Given the description of an element on the screen output the (x, y) to click on. 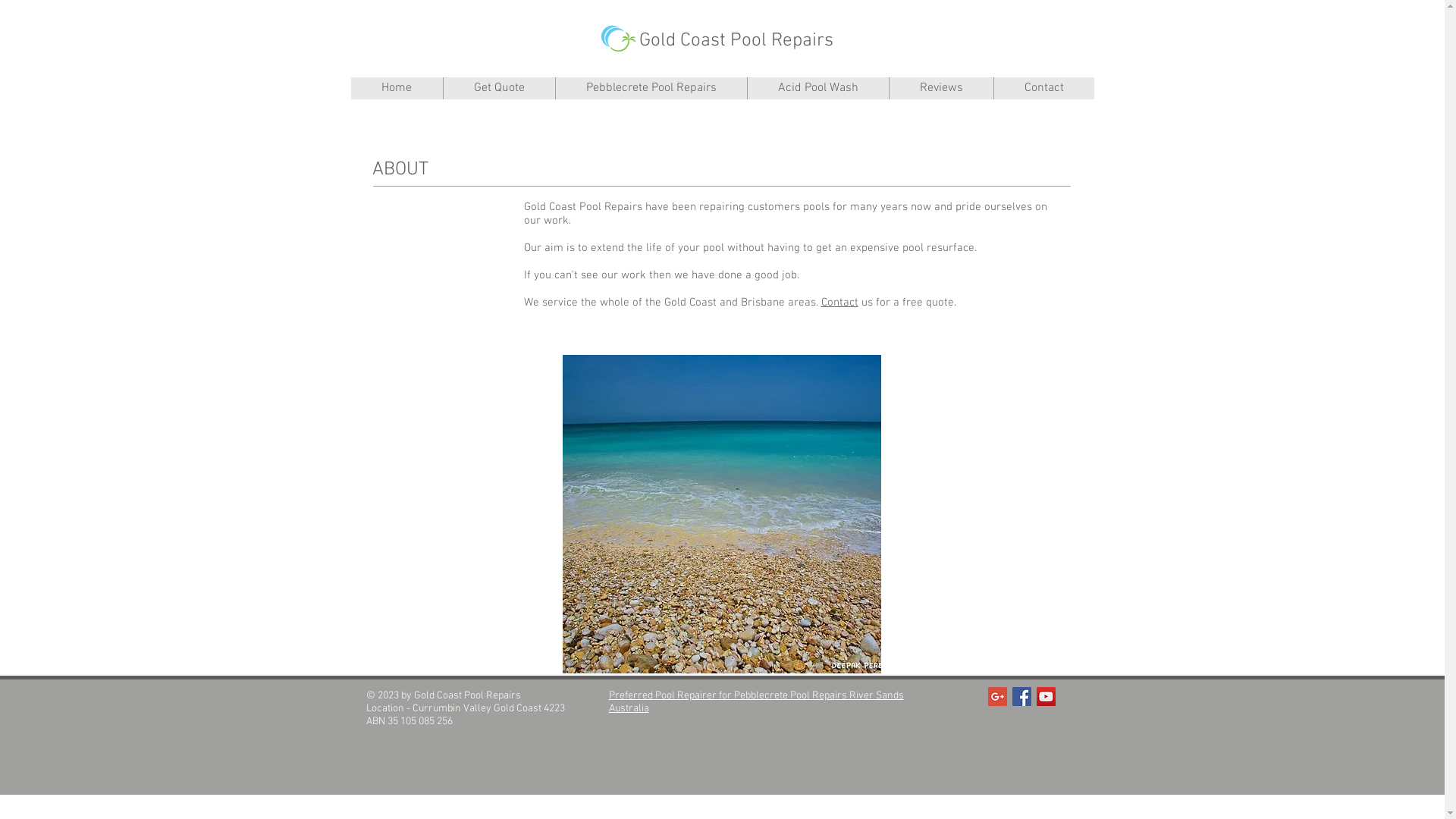
Get Quote Element type: text (498, 88)
Home Element type: text (396, 88)
Gold Coast Pool Repairs Element type: text (735, 40)
Acid Pool Wash Element type: text (817, 88)
Reviews Element type: text (940, 88)
Contact Element type: text (838, 302)
Pebblecrete Pool Repairs Element type: text (650, 88)
Contact Element type: text (1043, 88)
